Given the description of an element on the screen output the (x, y) to click on. 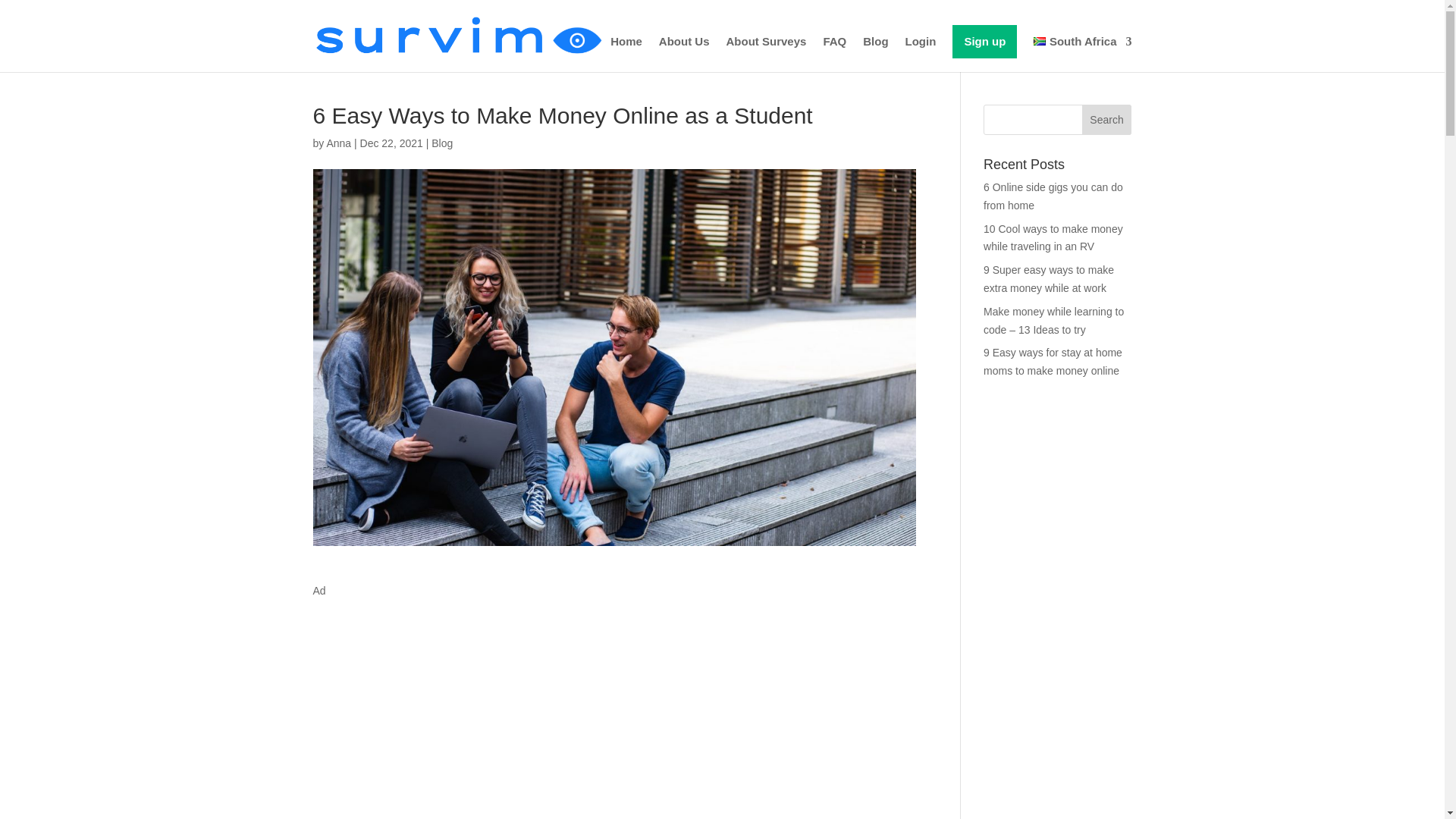
Home (626, 54)
Posts by Anna (338, 143)
About Surveys (766, 54)
South Africa (1082, 54)
Search (1106, 119)
About Us (684, 54)
Sign up (984, 41)
